Given the description of an element on the screen output the (x, y) to click on. 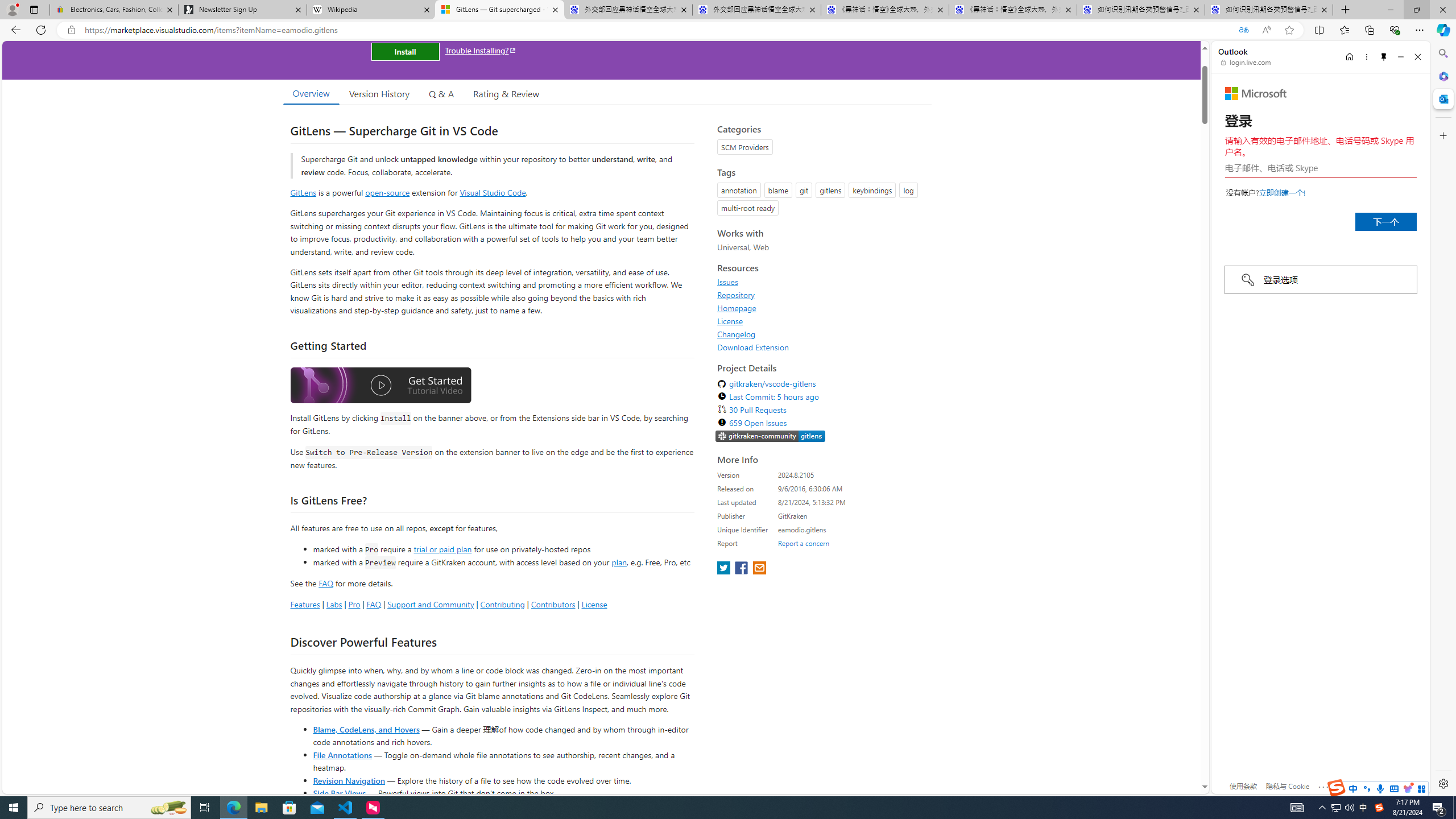
share extension on facebook (742, 568)
GitLens (303, 192)
Download Extension (753, 346)
Translated (1243, 29)
File Annotations (342, 754)
Revision Navigation (348, 780)
